Given the description of an element on the screen output the (x, y) to click on. 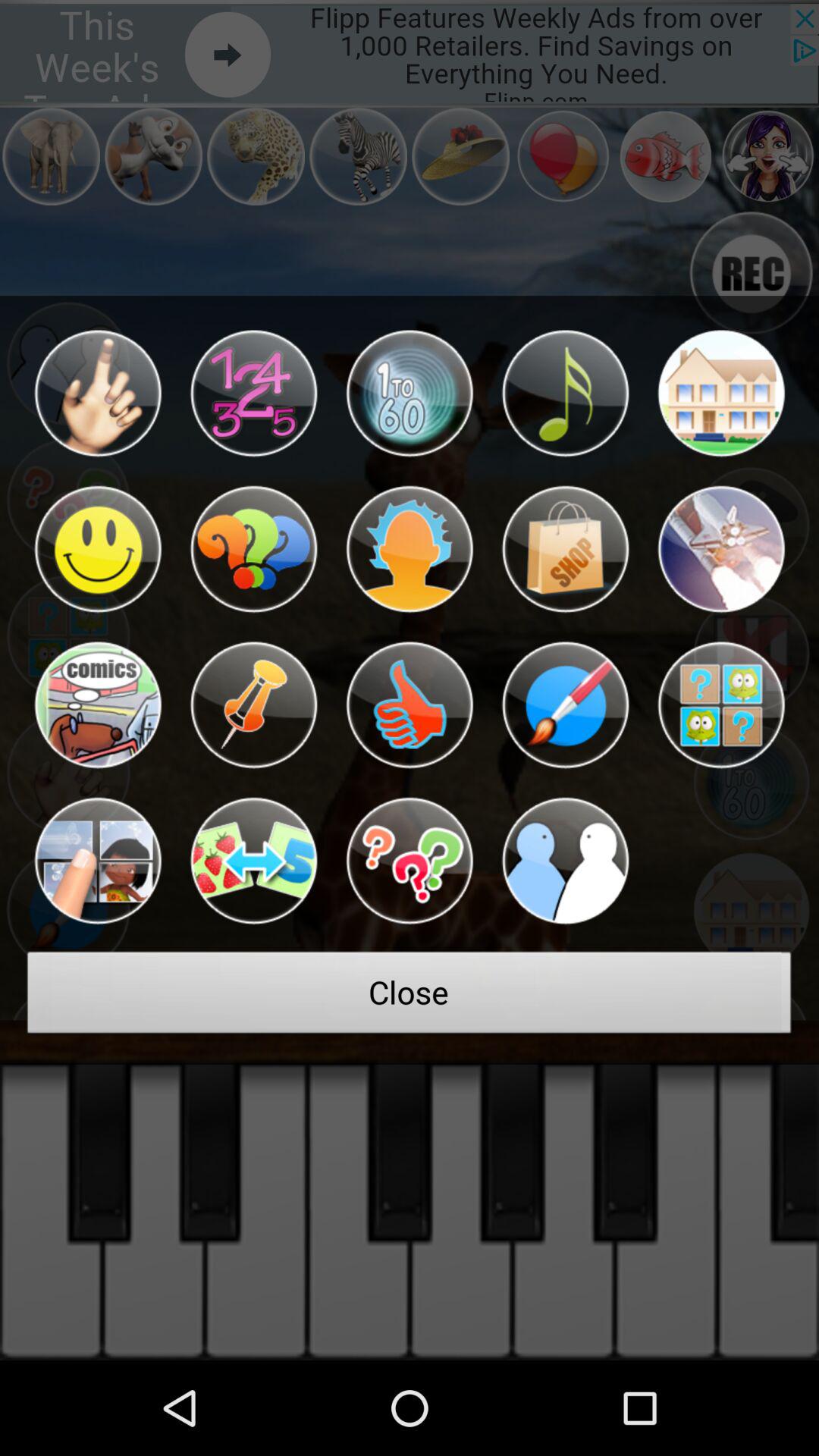
smiley (97, 549)
